Given the description of an element on the screen output the (x, y) to click on. 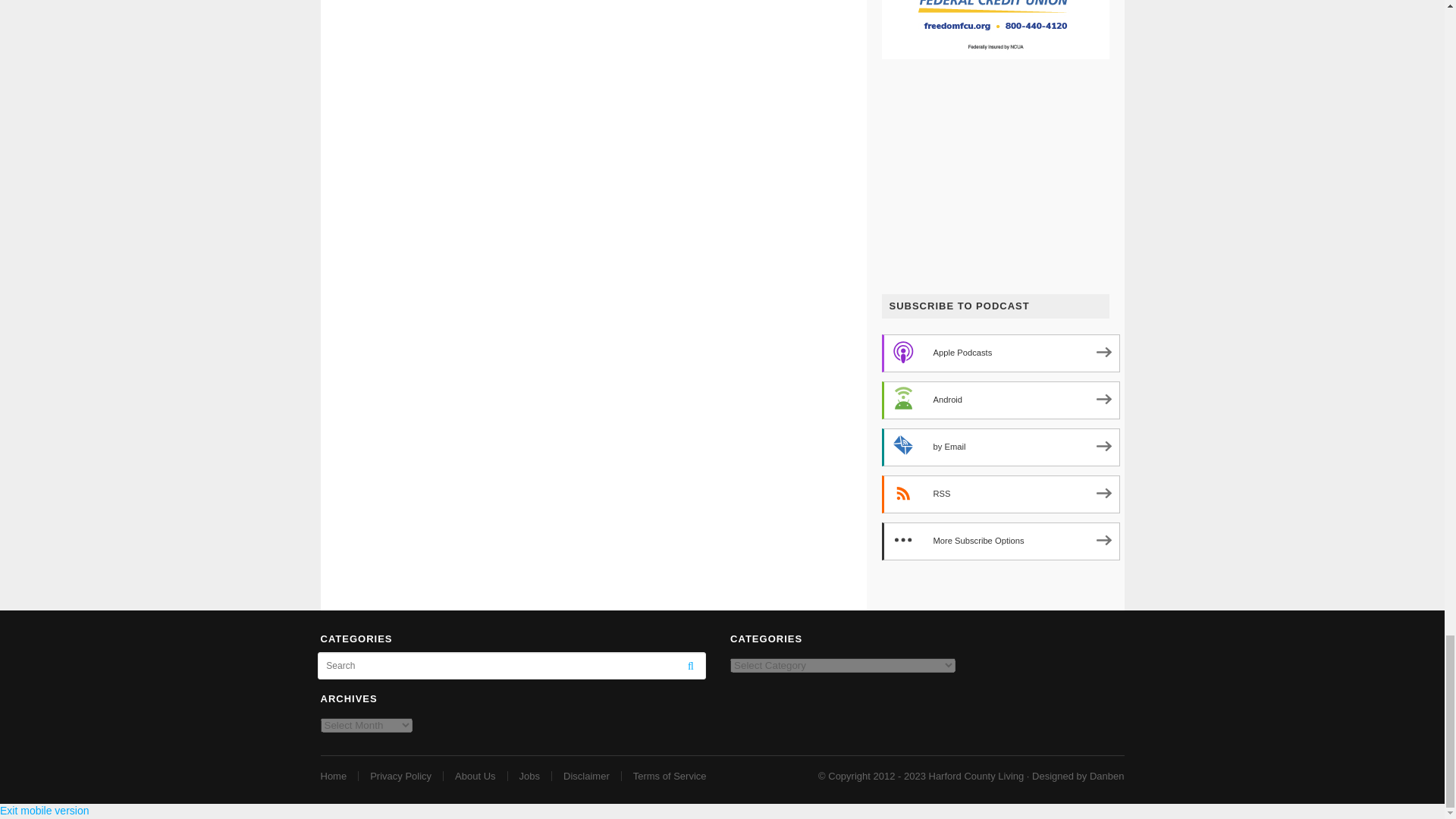
Subscribe on Apple Podcasts (999, 353)
Subscribe by Email (999, 447)
Subscribe on Android (999, 400)
Subscribe via RSS (999, 494)
